Given the description of an element on the screen output the (x, y) to click on. 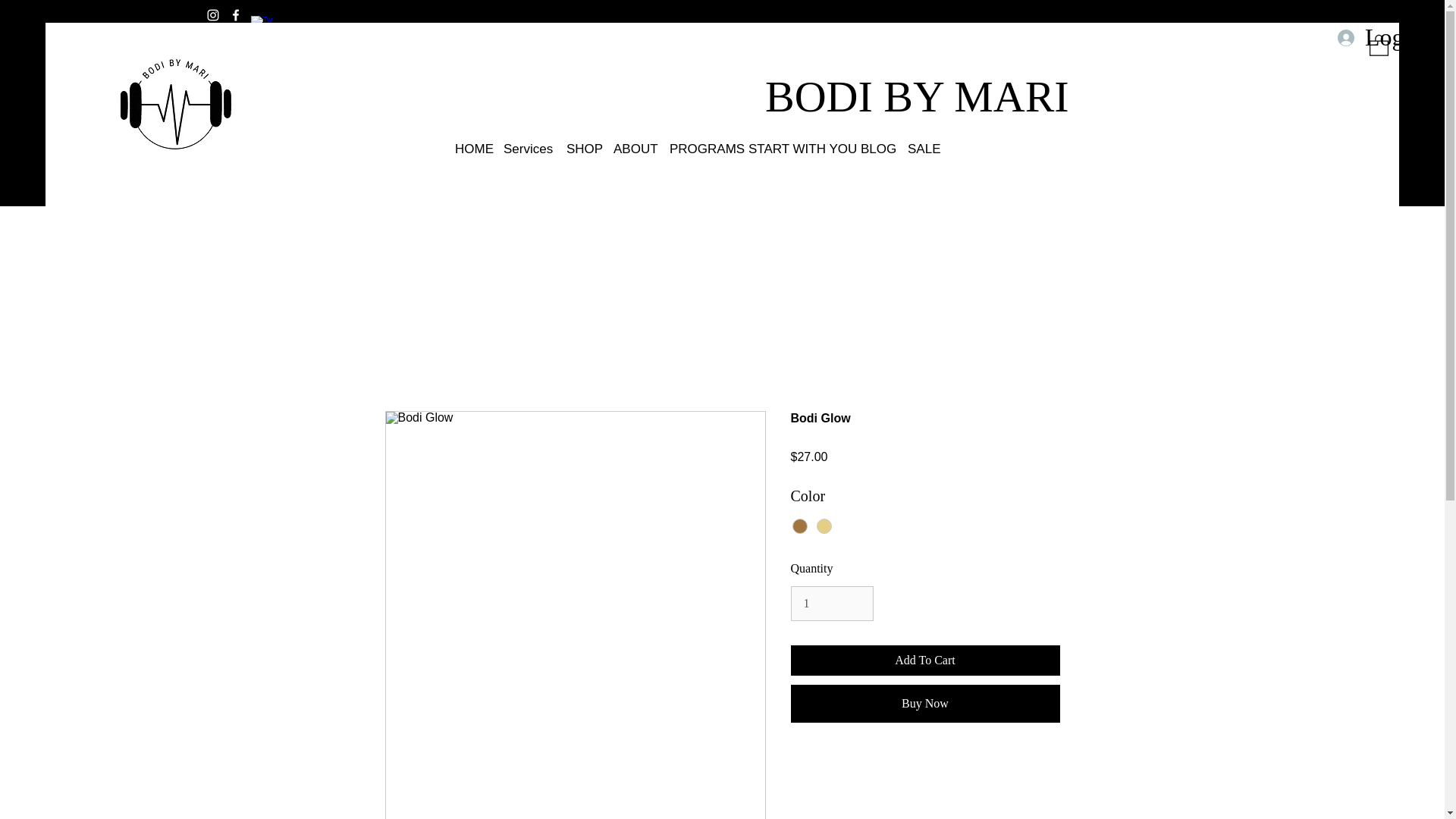
START WITH YOU (797, 149)
1 (831, 603)
Add To Cart (924, 660)
HOME (471, 149)
PROGRAMS (701, 149)
SALE (922, 149)
Buy Now (924, 703)
BLOG (876, 149)
SHOP (582, 149)
ABOUT (633, 149)
Services (527, 149)
